Given the description of an element on the screen output the (x, y) to click on. 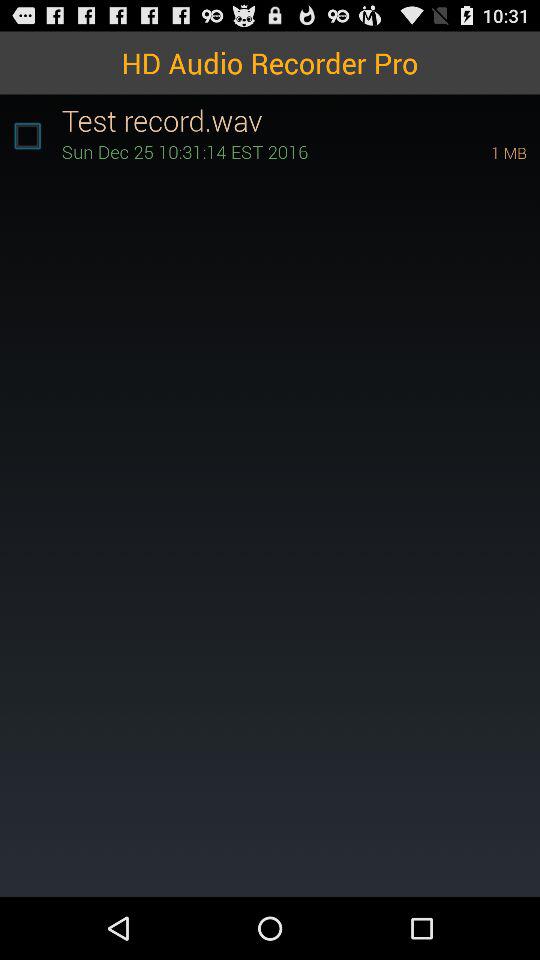
press item below test record.wav item (481, 152)
